Given the description of an element on the screen output the (x, y) to click on. 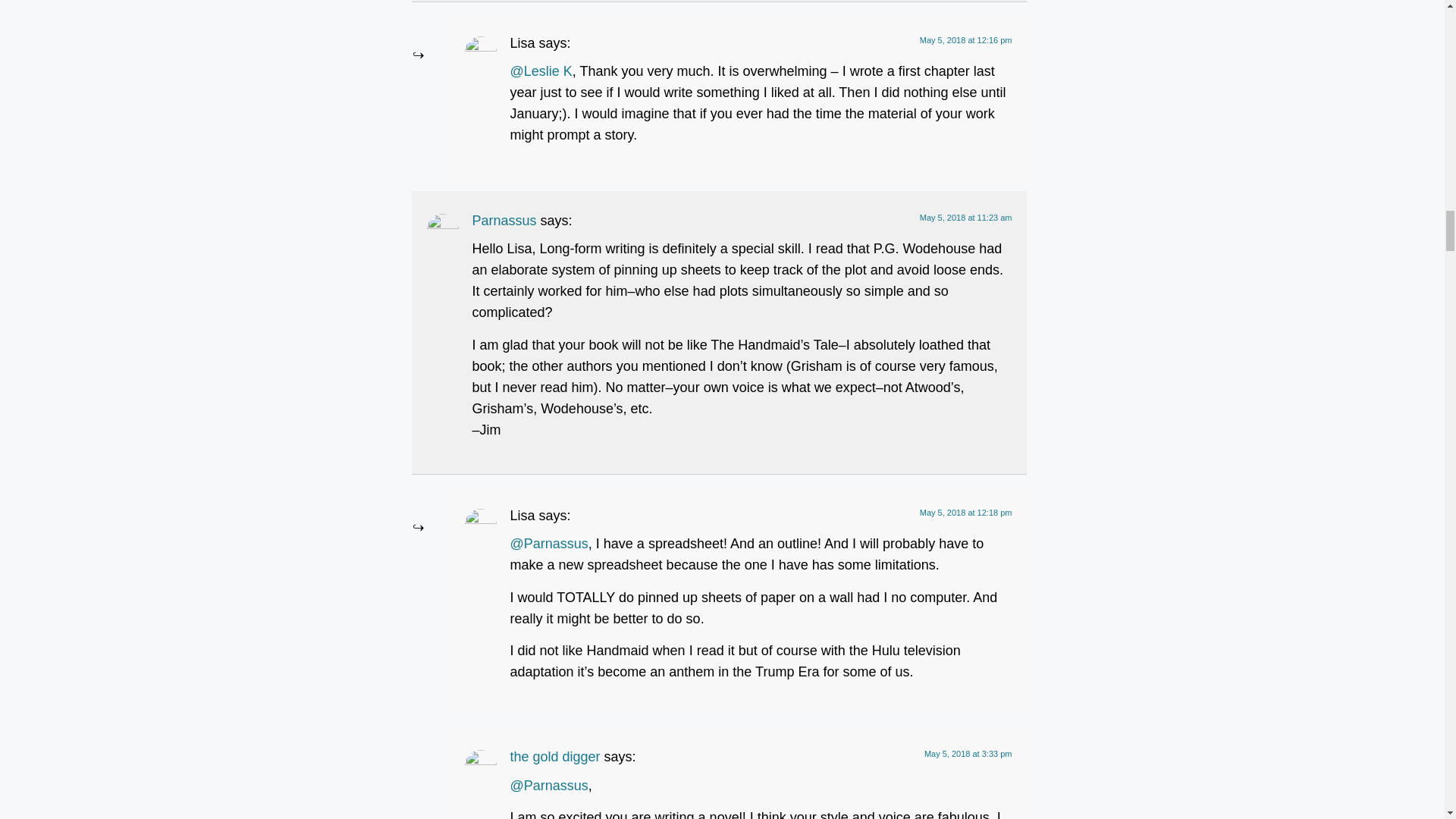
May 5, 2018 at 12:18 pm (965, 511)
May 5, 2018 at 3:33 pm (967, 753)
May 5, 2018 at 12:16 pm (965, 40)
May 5, 2018 at 11:23 am (965, 216)
Parnassus (503, 220)
the gold digger (554, 756)
